Given the description of an element on the screen output the (x, y) to click on. 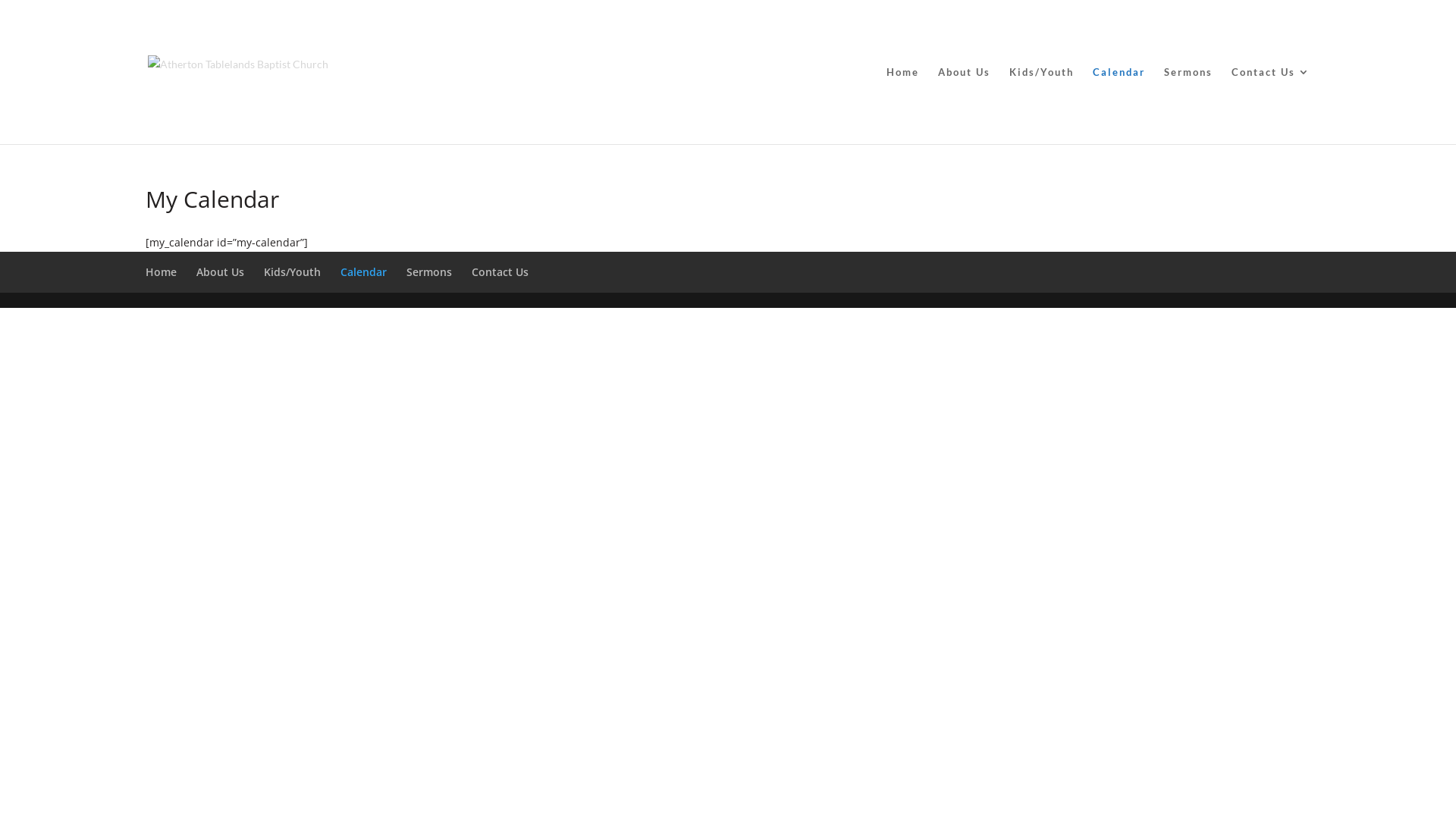
About Us Element type: text (220, 271)
Contact Us Element type: text (499, 271)
Home Element type: text (160, 271)
Sermons Element type: text (428, 271)
About Us Element type: text (964, 105)
Contact Us Element type: text (1270, 105)
Calendar Element type: text (1118, 105)
Calendar Element type: text (363, 271)
Home Element type: text (902, 105)
Kids/Youth Element type: text (291, 271)
Kids/Youth Element type: text (1041, 105)
Sermons Element type: text (1188, 105)
